Given the description of an element on the screen output the (x, y) to click on. 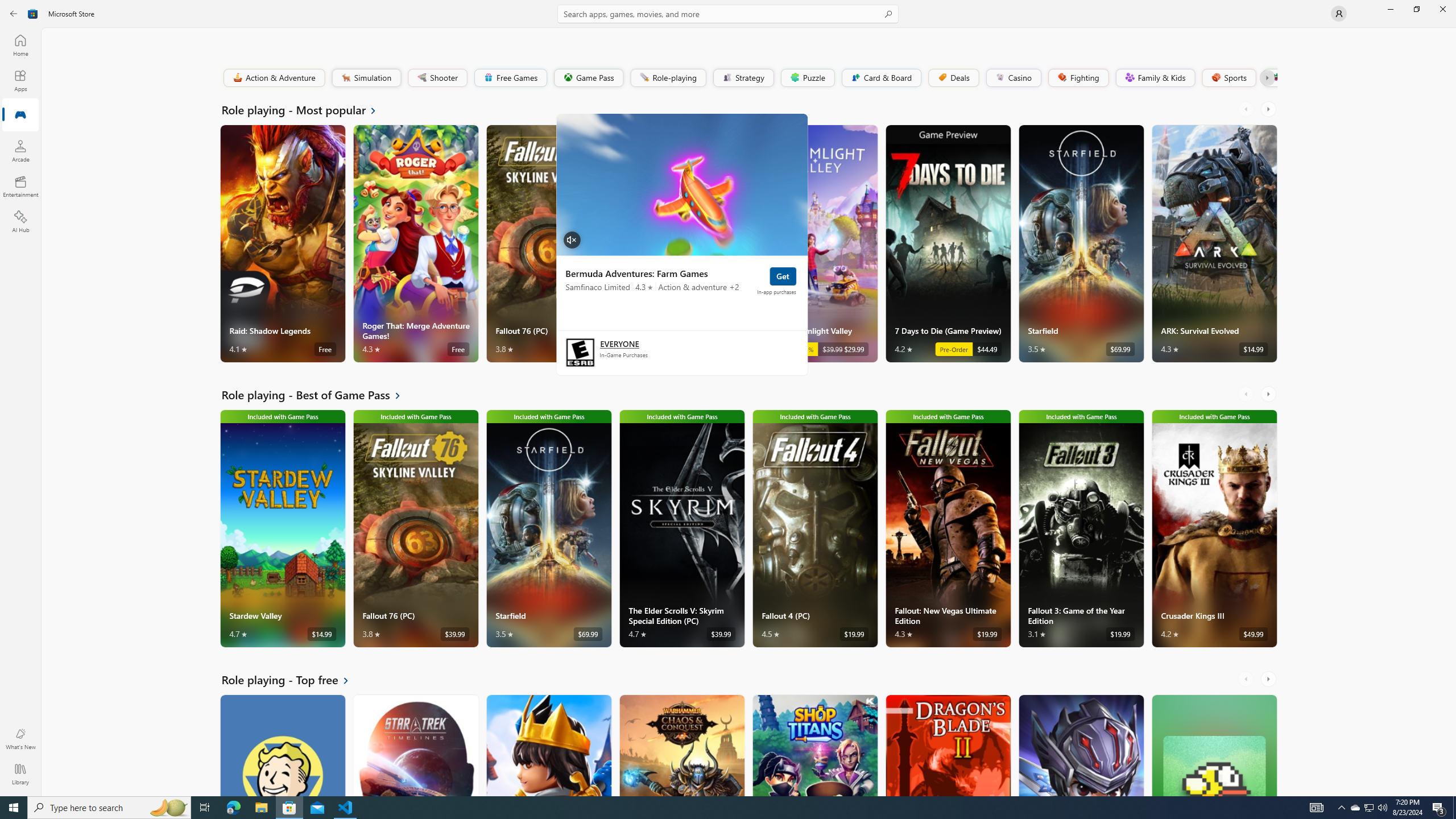
Search (727, 13)
Shooter (436, 77)
Bermuda Adventures: Farm Games (681, 184)
Card & Board (880, 77)
Mute (571, 239)
Platformer (1269, 77)
